Given the description of an element on the screen output the (x, y) to click on. 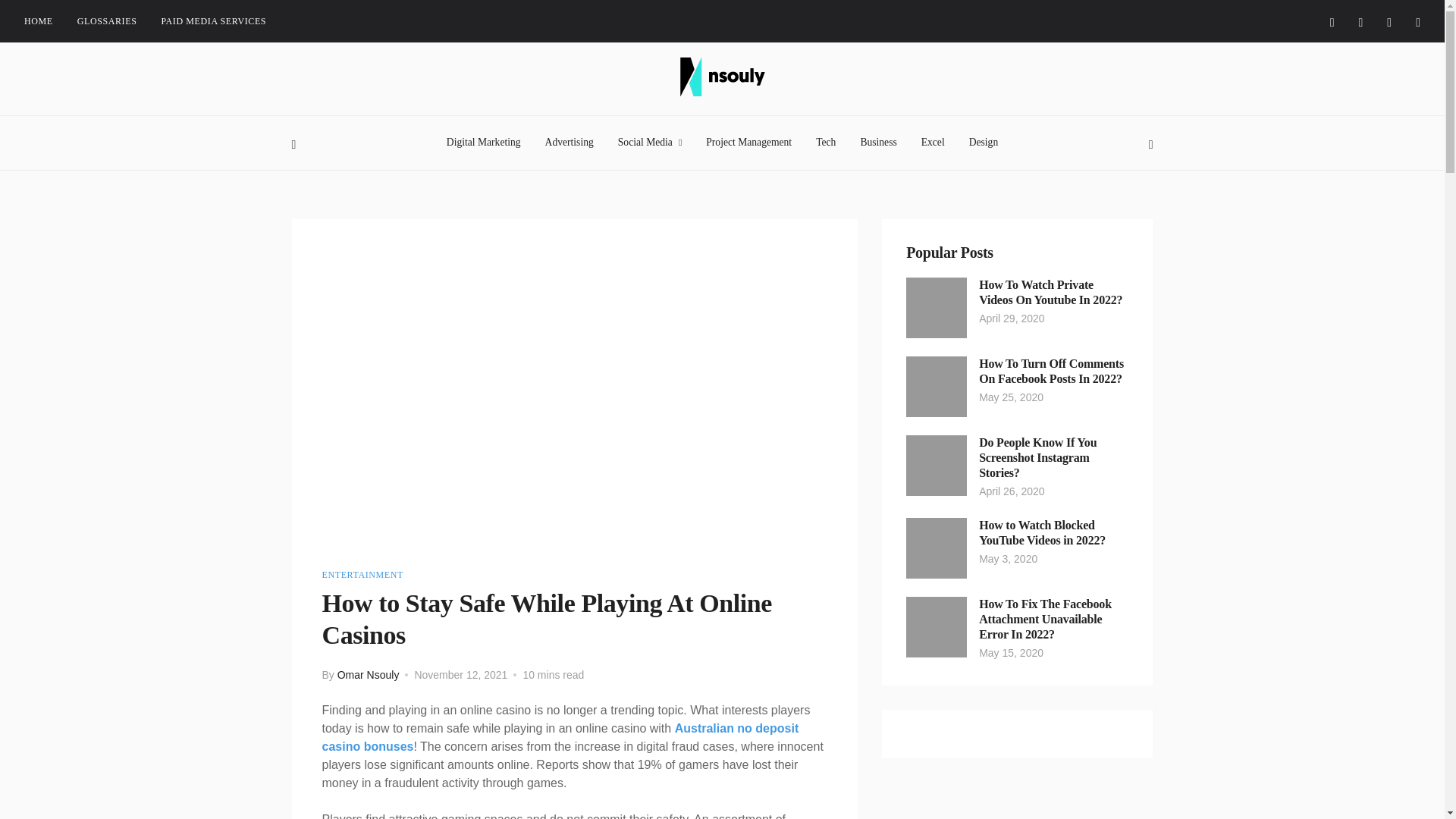
Digital Marketing (483, 142)
Social Media (649, 142)
Advertising (569, 142)
PAID MEDIA SERVICES (213, 20)
HOME (38, 20)
GLOSSARIES (106, 20)
